Given the description of an element on the screen output the (x, y) to click on. 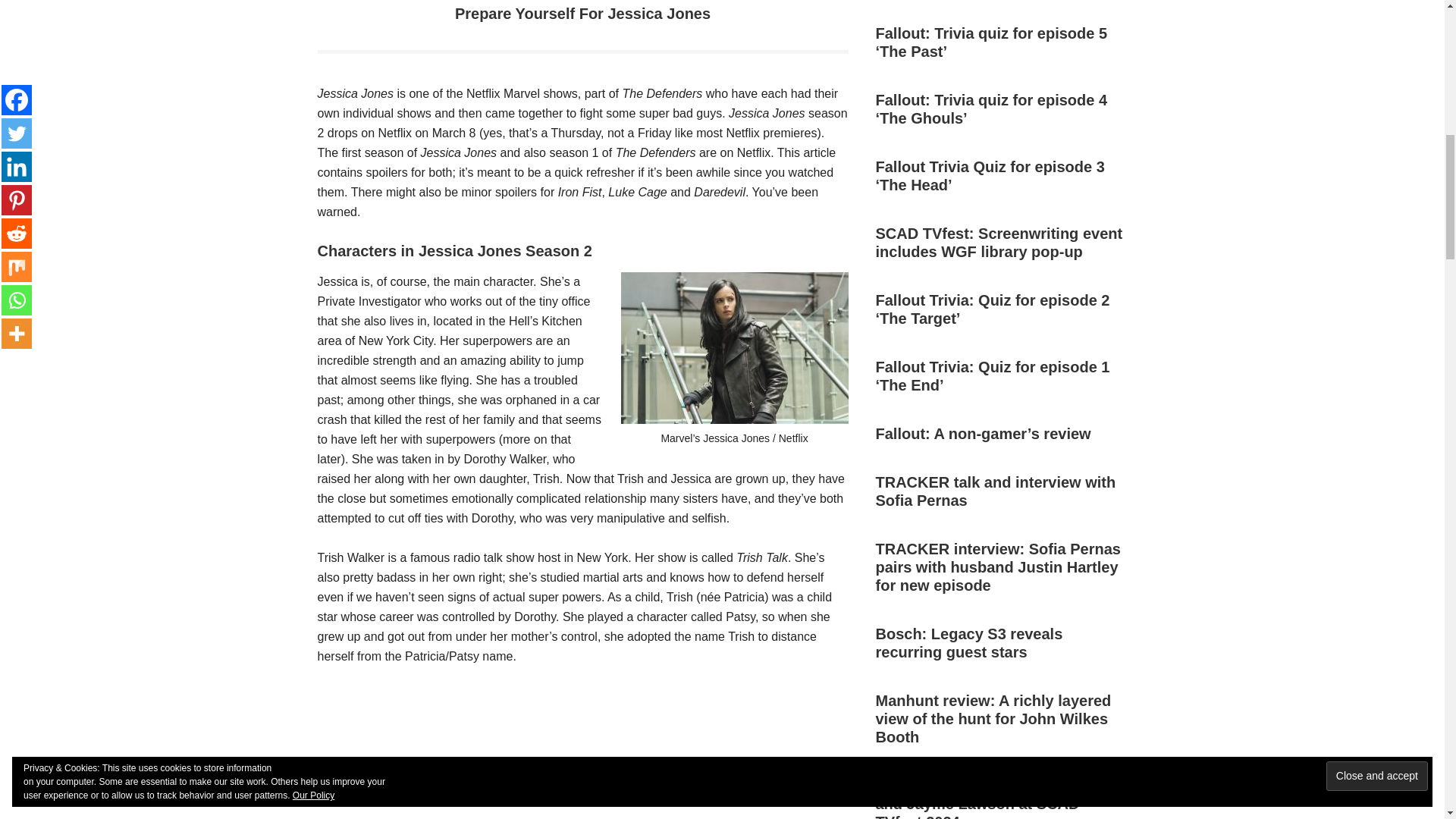
Advertisement (582, 752)
